Given the description of an element on the screen output the (x, y) to click on. 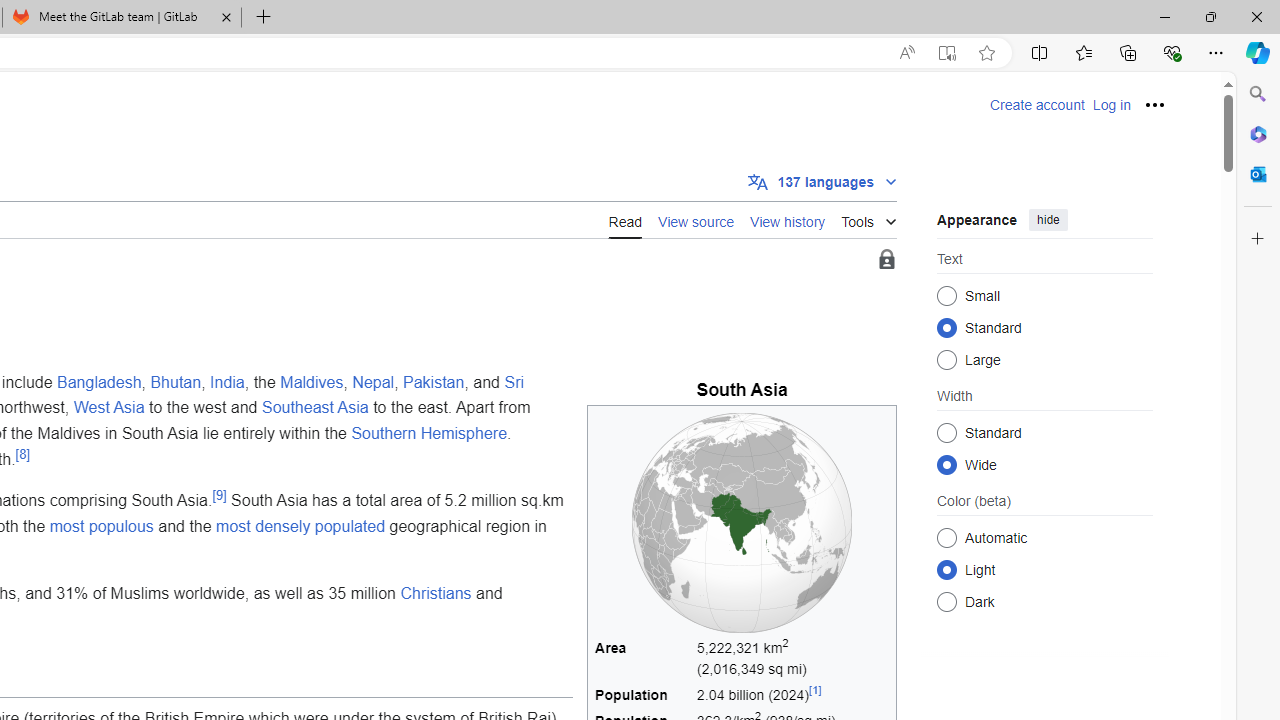
Page semi-protected (886, 259)
West Asia (108, 407)
Automatic (946, 537)
Maldives (312, 381)
Nepal (373, 381)
[1] (814, 690)
View source (695, 219)
Area (643, 658)
